Given the description of an element on the screen output the (x, y) to click on. 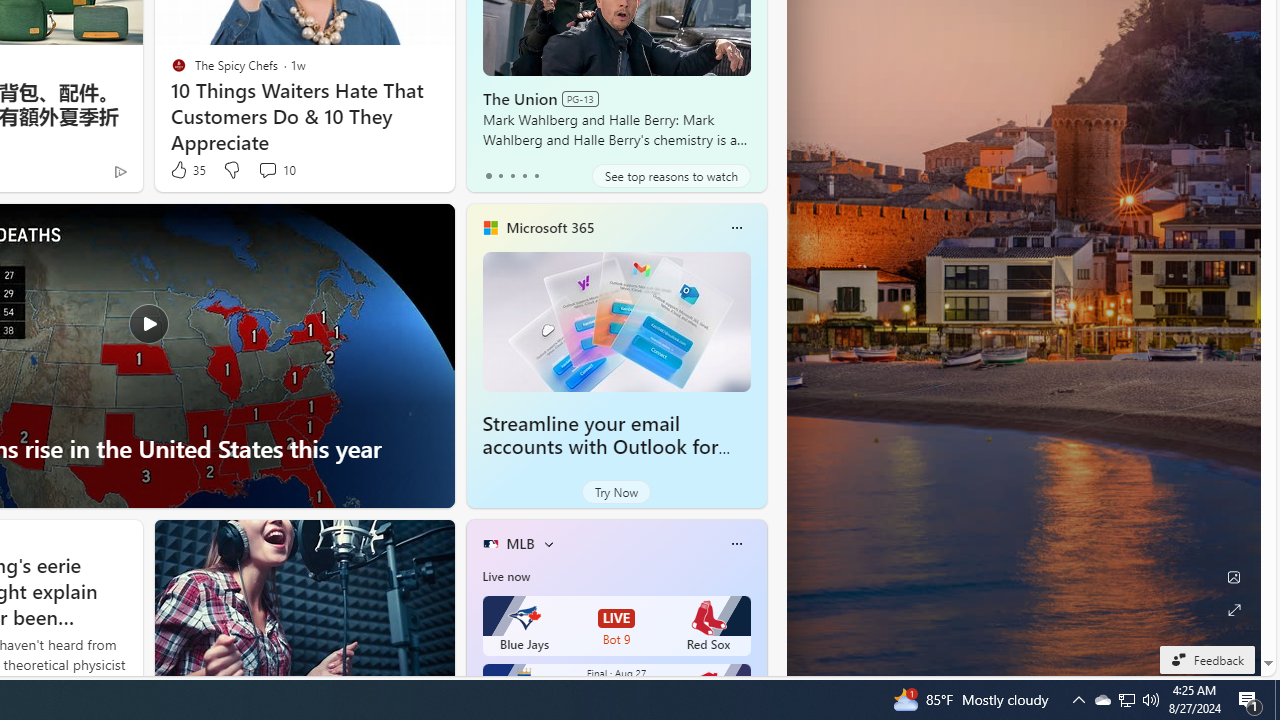
Streamline your email accounts with Outlook for Windows (600, 446)
Blue Jays LIVE Bot 9 Red Sox (616, 625)
Expand background (1233, 610)
View comments 10 Comment (267, 169)
Try Now (616, 491)
Edit Background (1233, 577)
tab-4 (535, 175)
tab-2 (511, 175)
tab-3 (524, 175)
Streamline your email accounts with Outlook for Windows (616, 321)
